Given the description of an element on the screen output the (x, y) to click on. 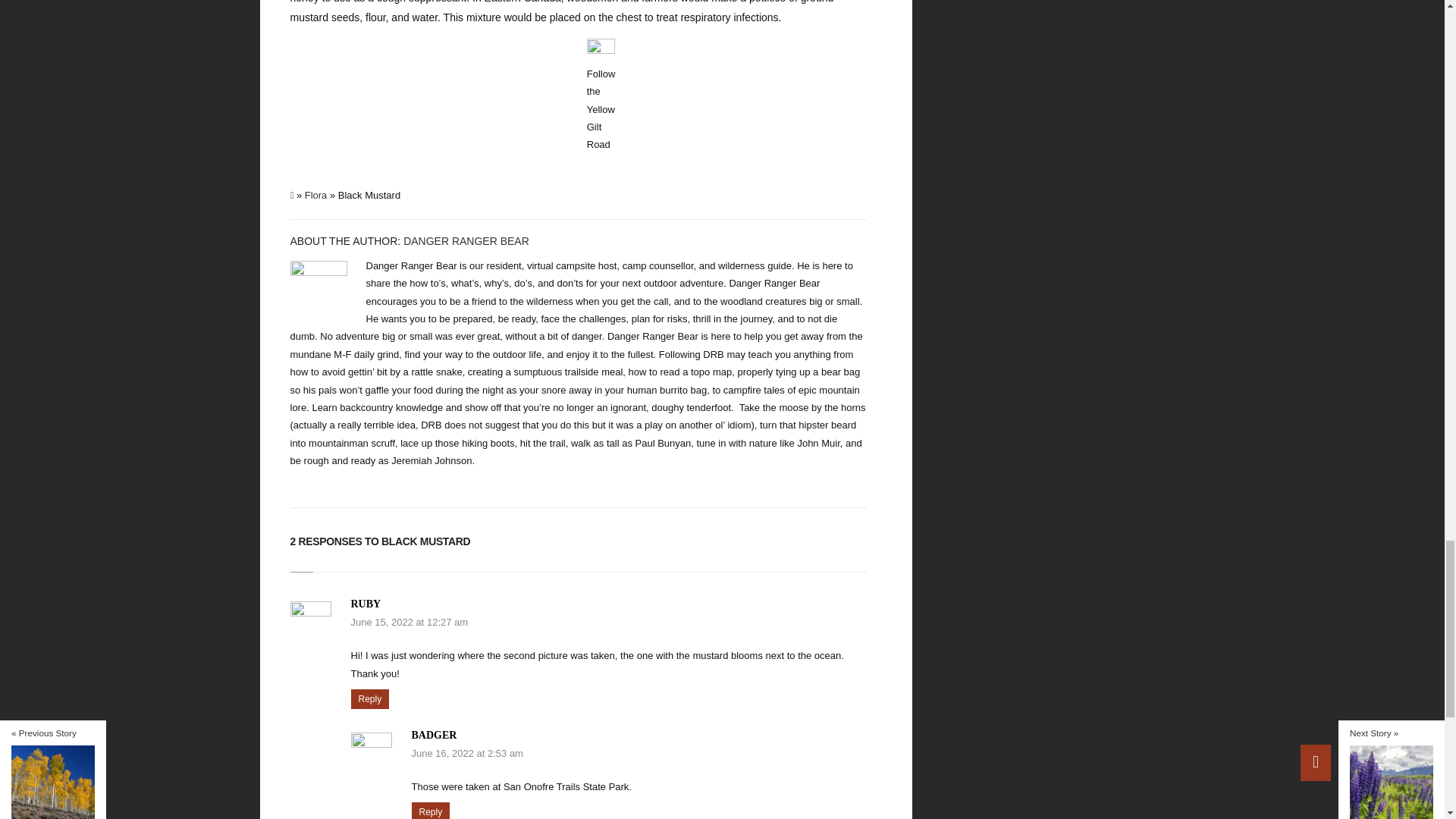
June 16, 2022 at 2:53 am (466, 753)
Reply (369, 699)
June 15, 2022 at 12:27 am (408, 622)
DANGER RANGER BEAR (466, 241)
Flora (315, 194)
Posts by Danger Ranger Bear (466, 241)
